Given the description of an element on the screen output the (x, y) to click on. 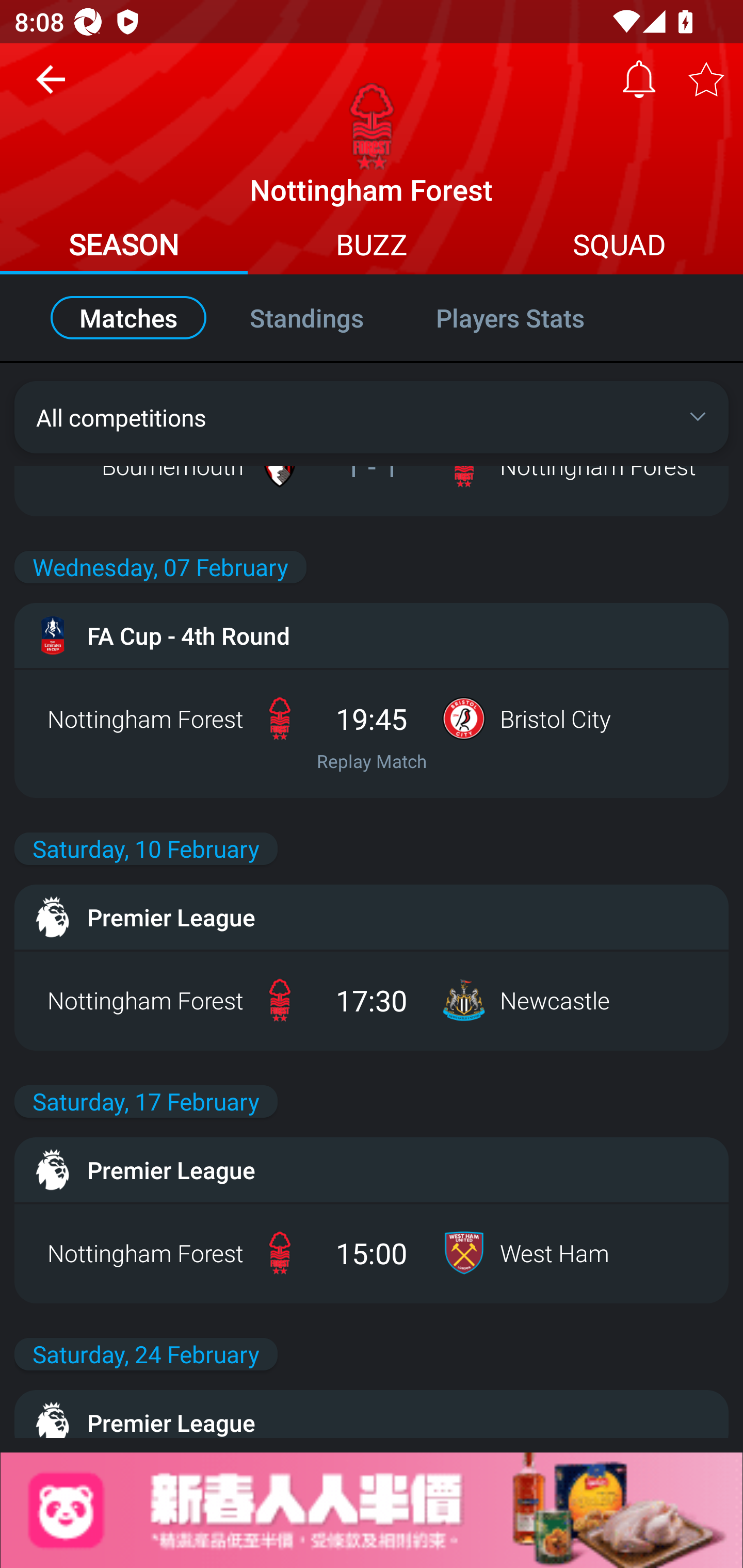
Navigate up (50, 86)
SEASON (123, 246)
BUZZ (371, 246)
SQUAD (619, 246)
Standings (306, 317)
Players Stats (531, 317)
All competitions (371, 417)
FA Cup - 4th Round (371, 635)
Nottingham Forest 19:45 Bristol City Replay Match (371, 732)
Premier League (371, 917)
Nottingham Forest 17:30 Newcastle (371, 1000)
Premier League (371, 1169)
Nottingham Forest 15:00 West Ham (371, 1252)
Premier League (371, 1413)
Advertisement (371, 1509)
